Given the description of an element on the screen output the (x, y) to click on. 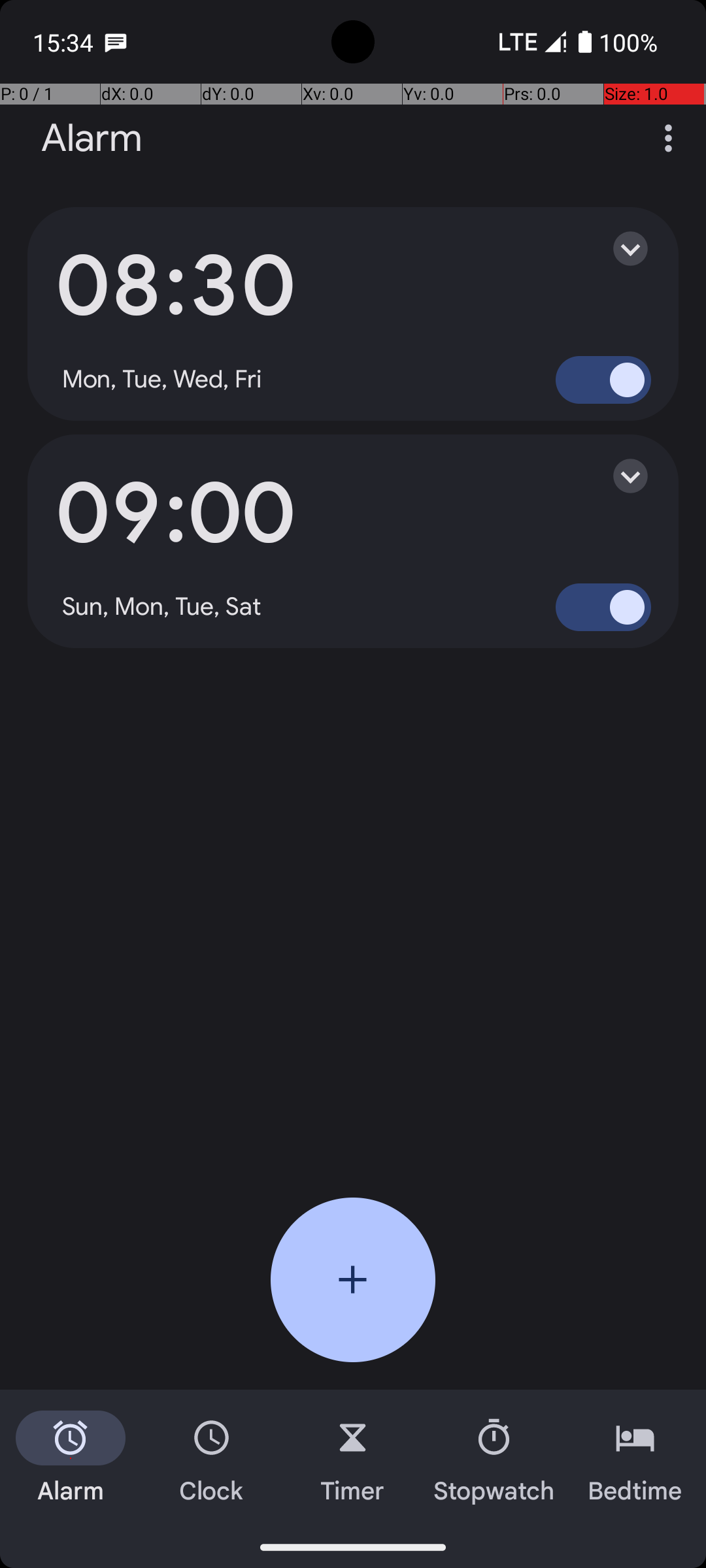
Add alarm Element type: android.widget.Button (352, 1279)
08:30 Element type: android.widget.TextView (174, 286)
Expand alarm Element type: android.widget.ImageButton (616, 248)
Mon, Tue, Wed, Fri Element type: android.widget.TextView (161, 379)
Sun, Mon, Tue, Sat Element type: android.widget.TextView (161, 606)
